Given the description of an element on the screen output the (x, y) to click on. 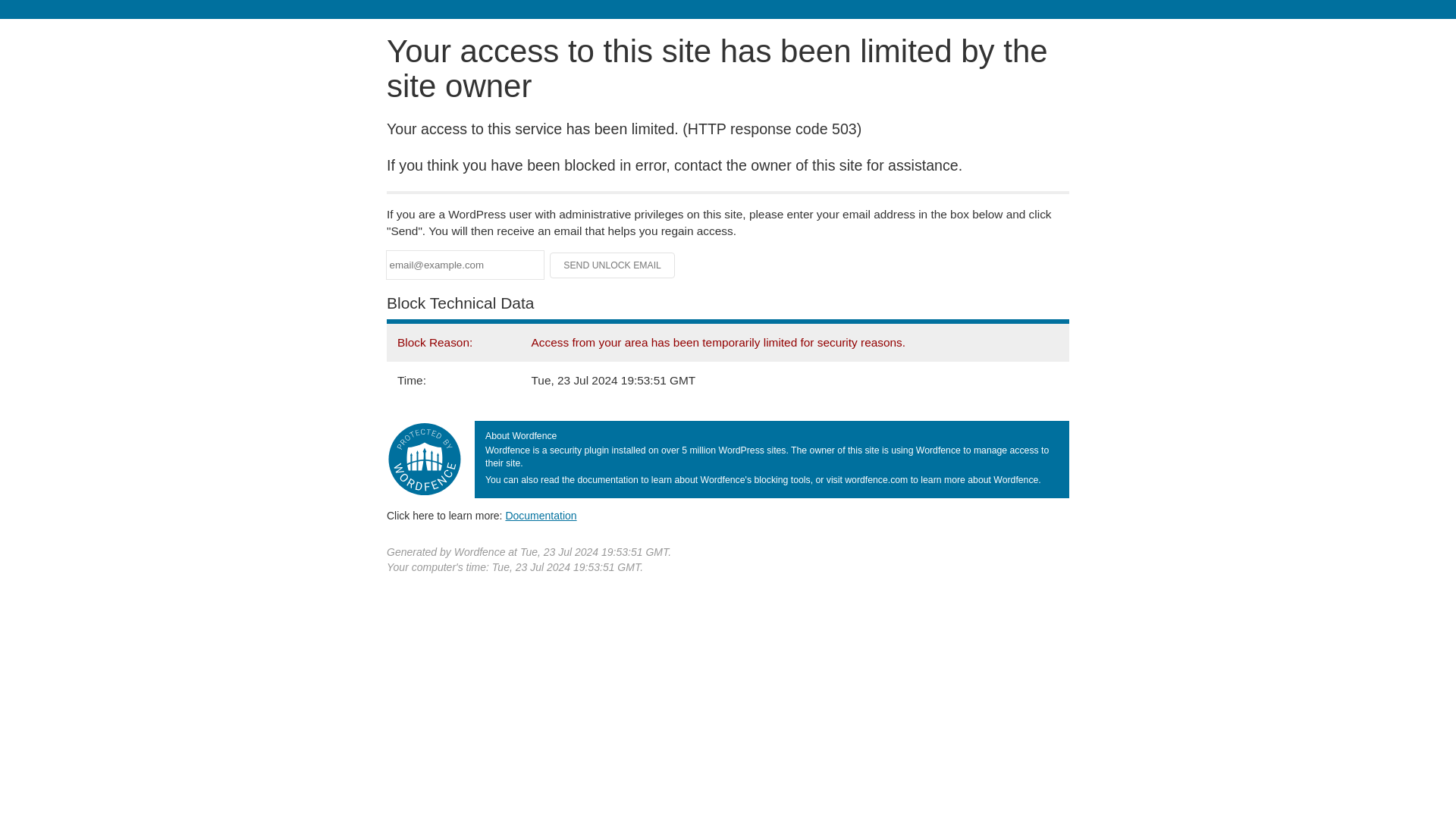
Send Unlock Email (612, 265)
Documentation (540, 515)
Send Unlock Email (612, 265)
